Given the description of an element on the screen output the (x, y) to click on. 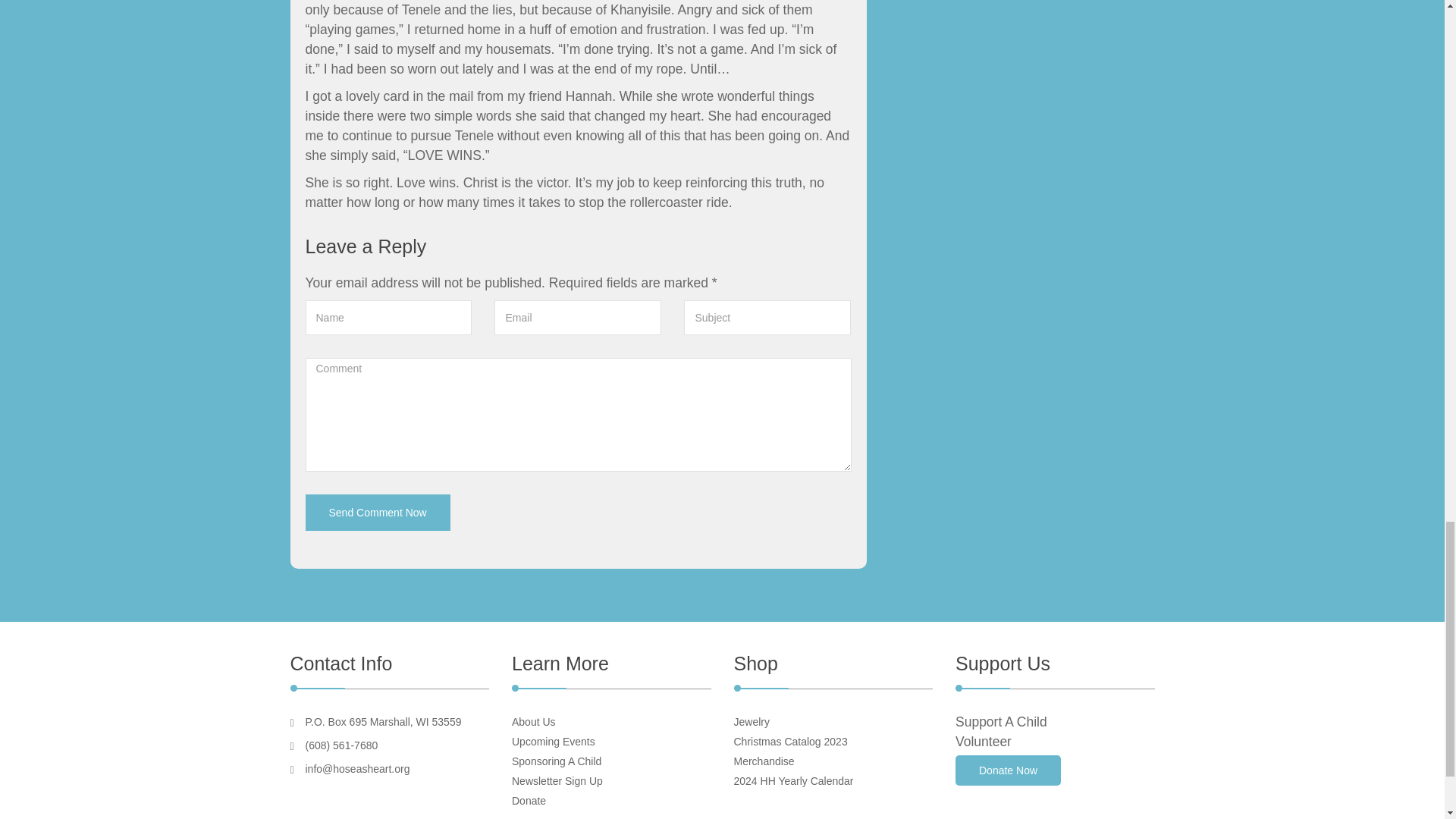
Send Comment Now (376, 512)
Send Comment Now (376, 512)
About Us (534, 721)
